Given the description of an element on the screen output the (x, y) to click on. 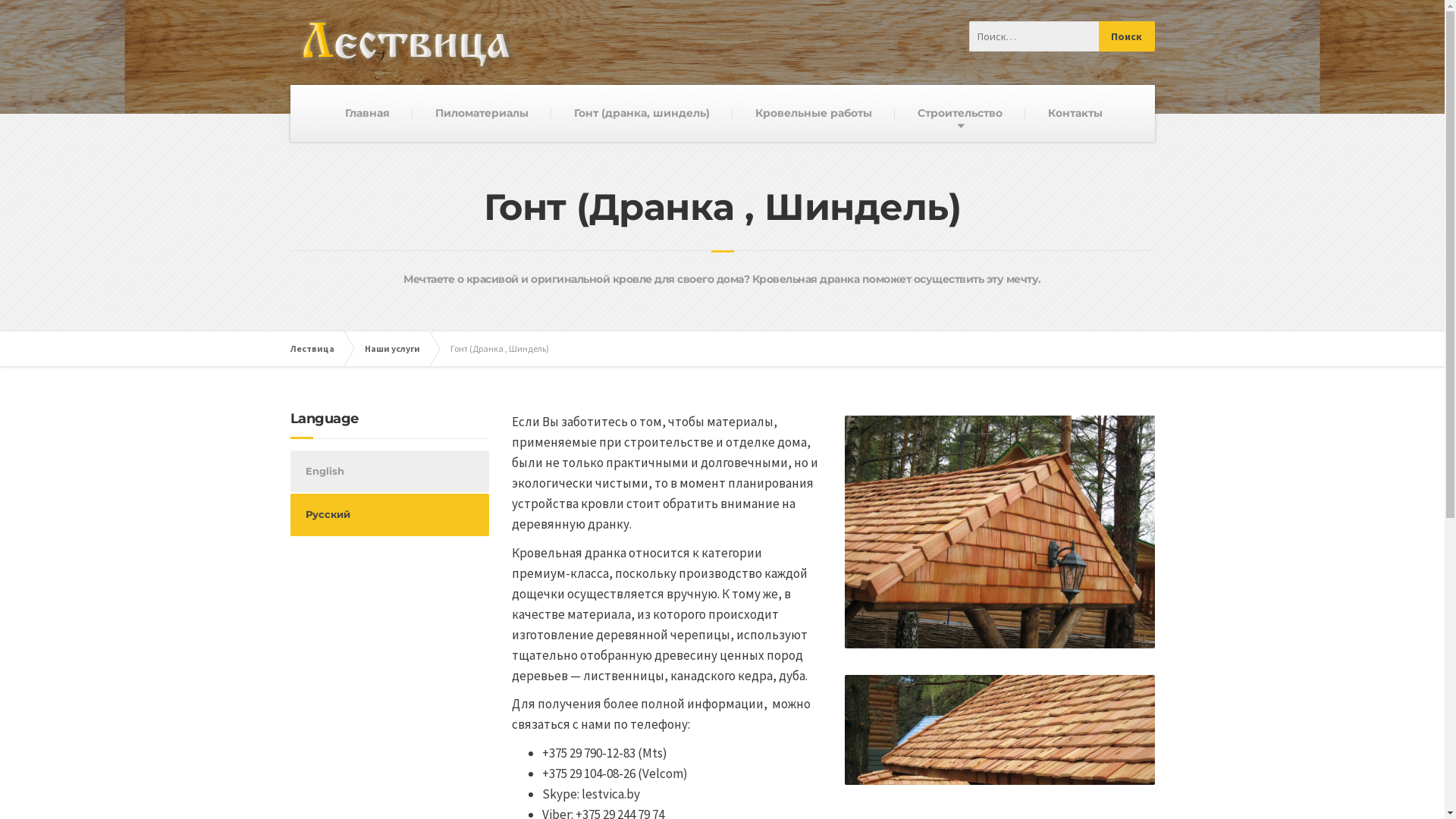
English Element type: text (389, 471)
